Given the description of an element on the screen output the (x, y) to click on. 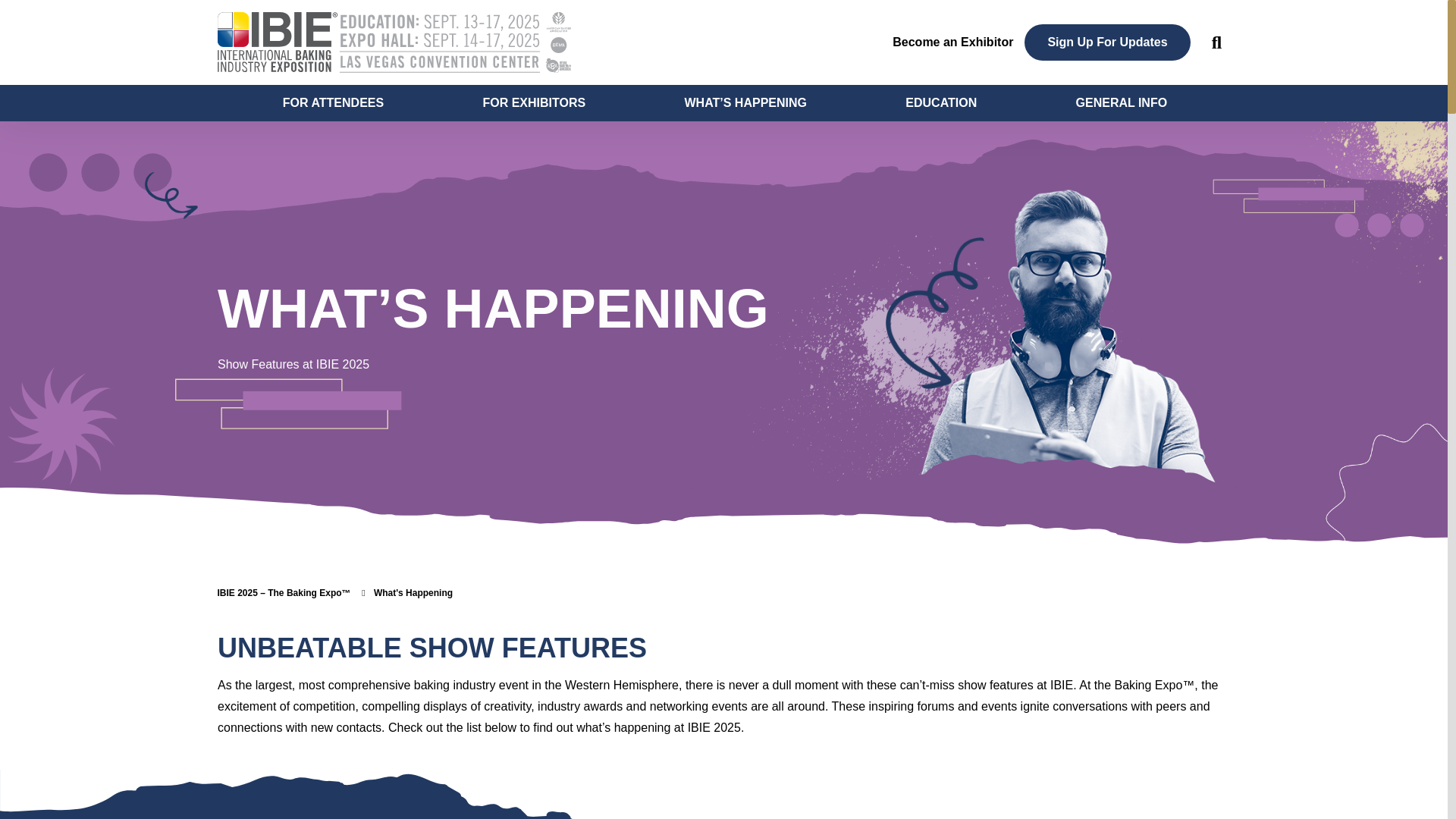
EDUCATION (939, 103)
GENERAL INFO (1120, 103)
Become an Exhibitor (952, 42)
Sign Up For Updates (1107, 42)
